Given the description of an element on the screen output the (x, y) to click on. 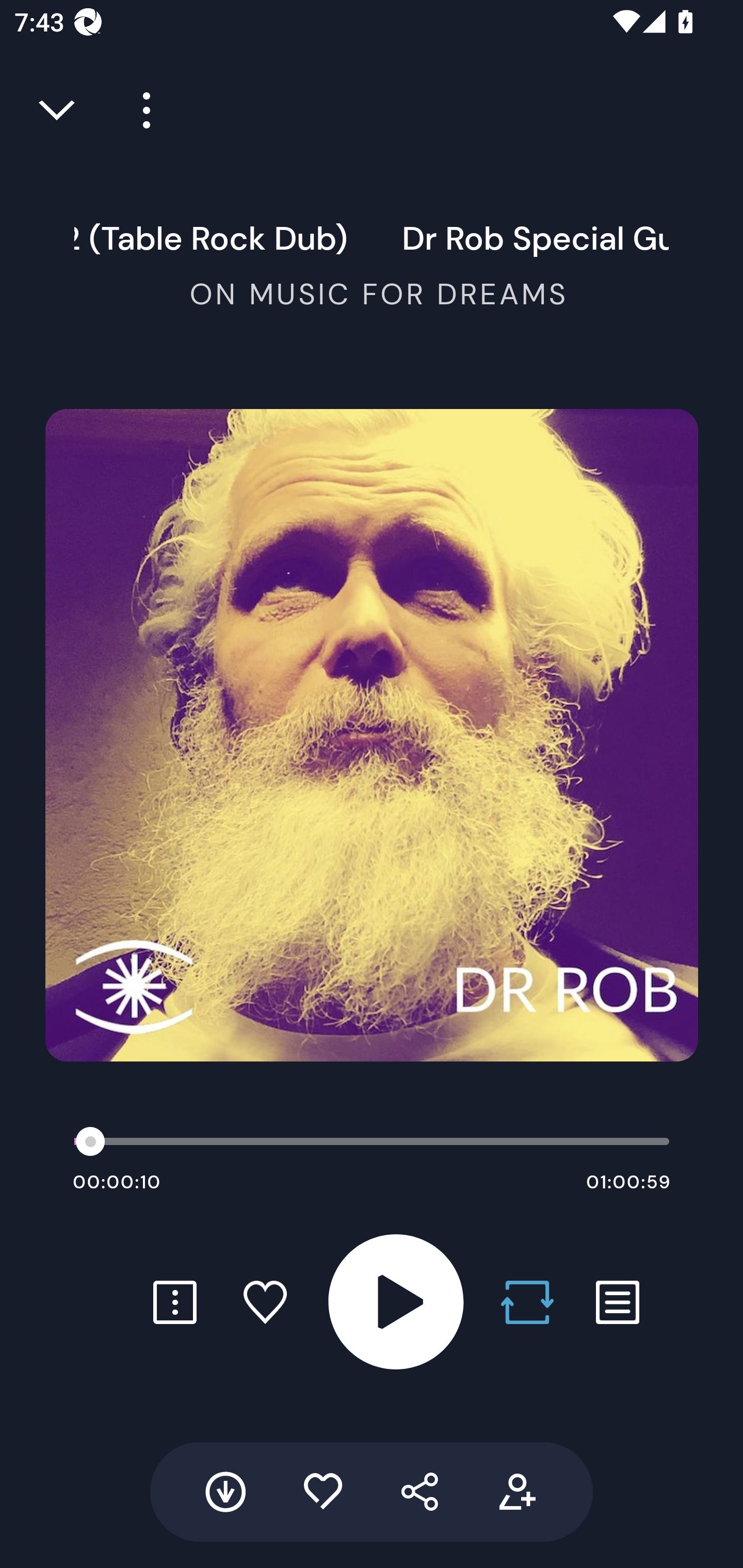
Close full player (58, 110)
Player more options button (139, 110)
Repost button (527, 1301)
